Given the description of an element on the screen output the (x, y) to click on. 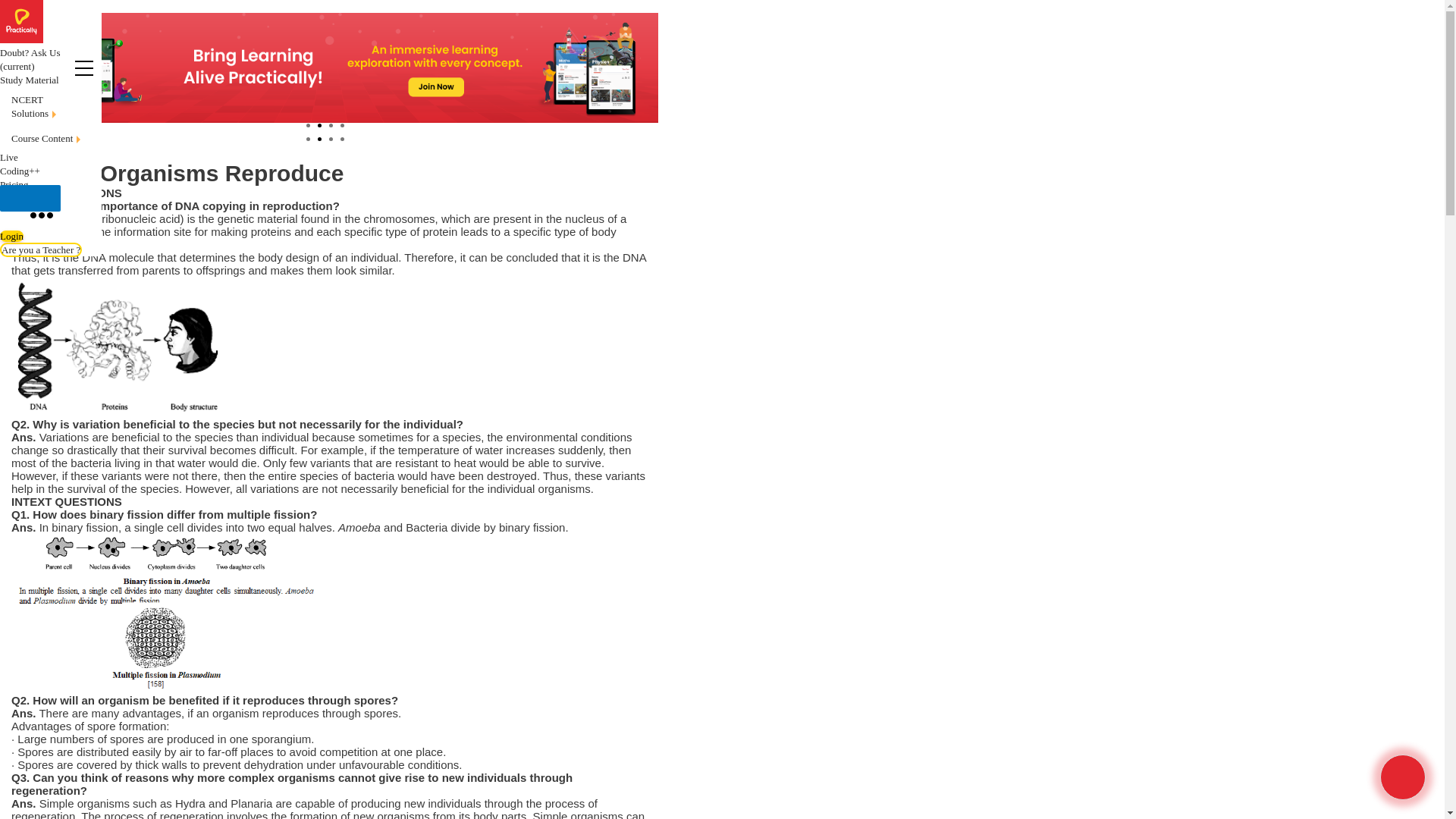
Skip to content (50, 110)
